Given the description of an element on the screen output the (x, y) to click on. 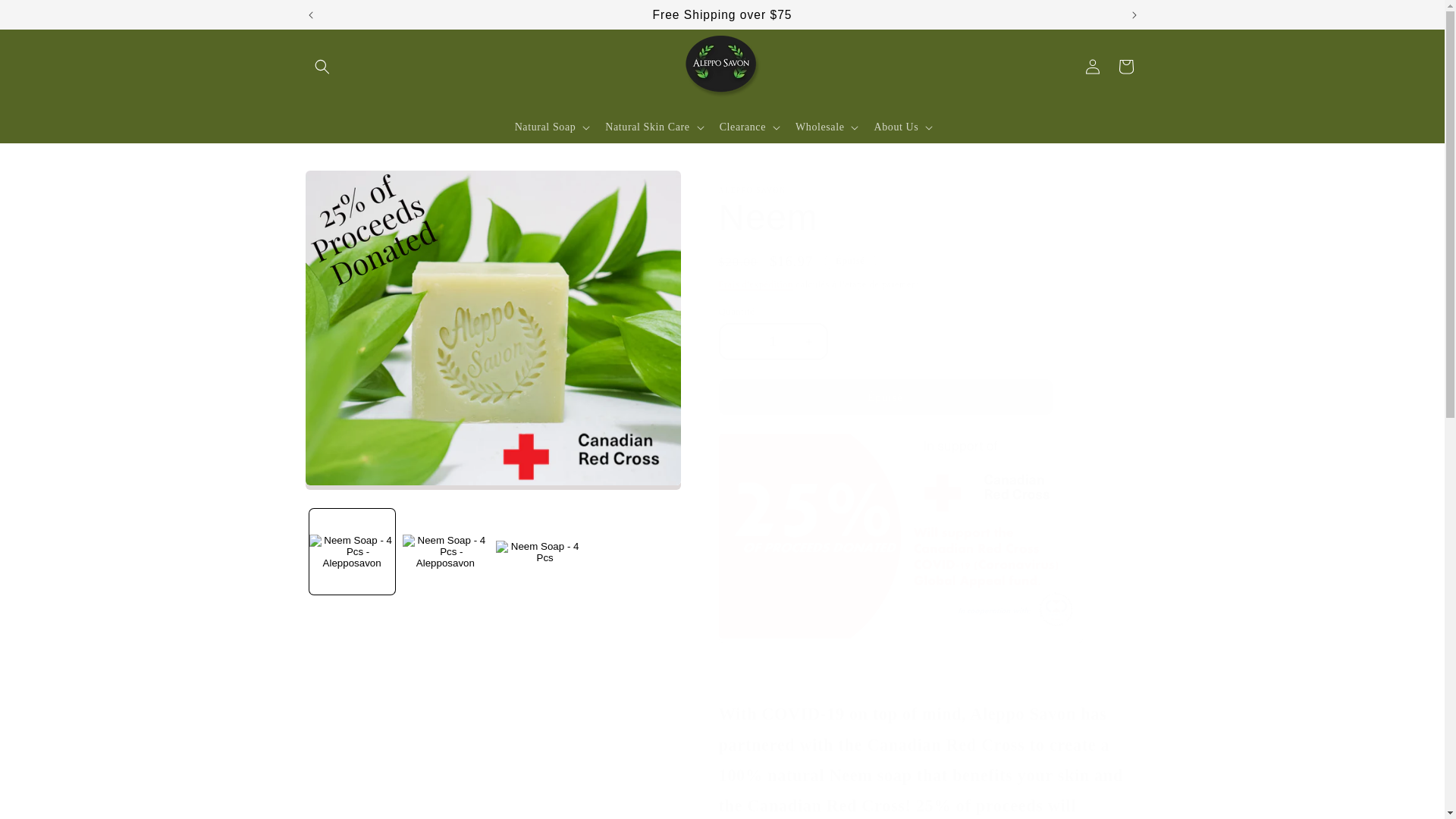
0 (491, 327)
1 (773, 341)
Ignorer et passer au contenu (45, 17)
